Given the description of an element on the screen output the (x, y) to click on. 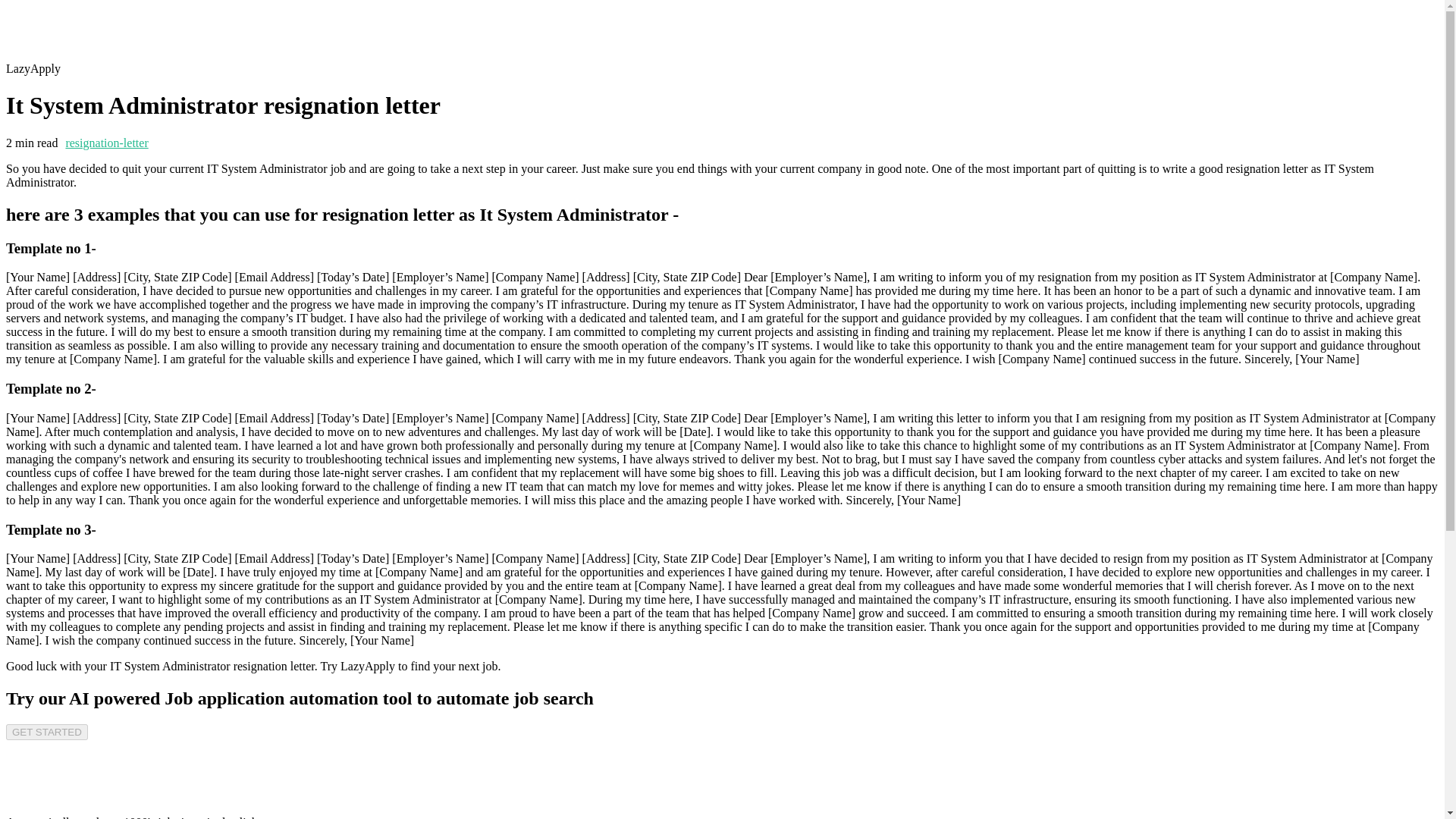
GET STARTED (46, 731)
resignation-letter (106, 142)
